Given the description of an element on the screen output the (x, y) to click on. 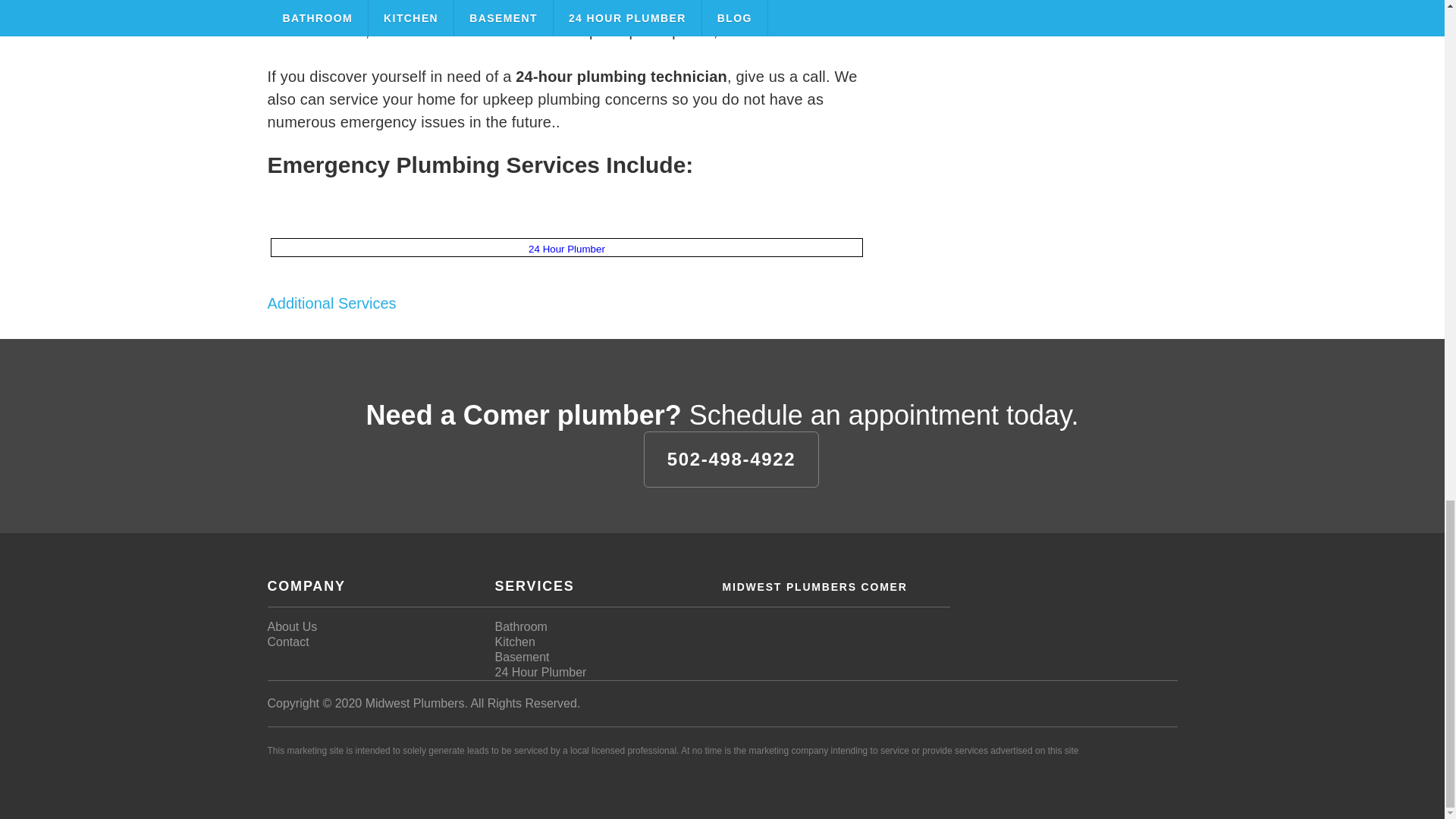
Basement (521, 656)
Kitchen (514, 641)
About Us (291, 626)
24 Hour Plumber (540, 671)
24 Hour Plumber (566, 248)
Bathroom (521, 626)
Additional Services (331, 303)
Contact (287, 641)
502-498-4922 (731, 459)
